Given the description of an element on the screen output the (x, y) to click on. 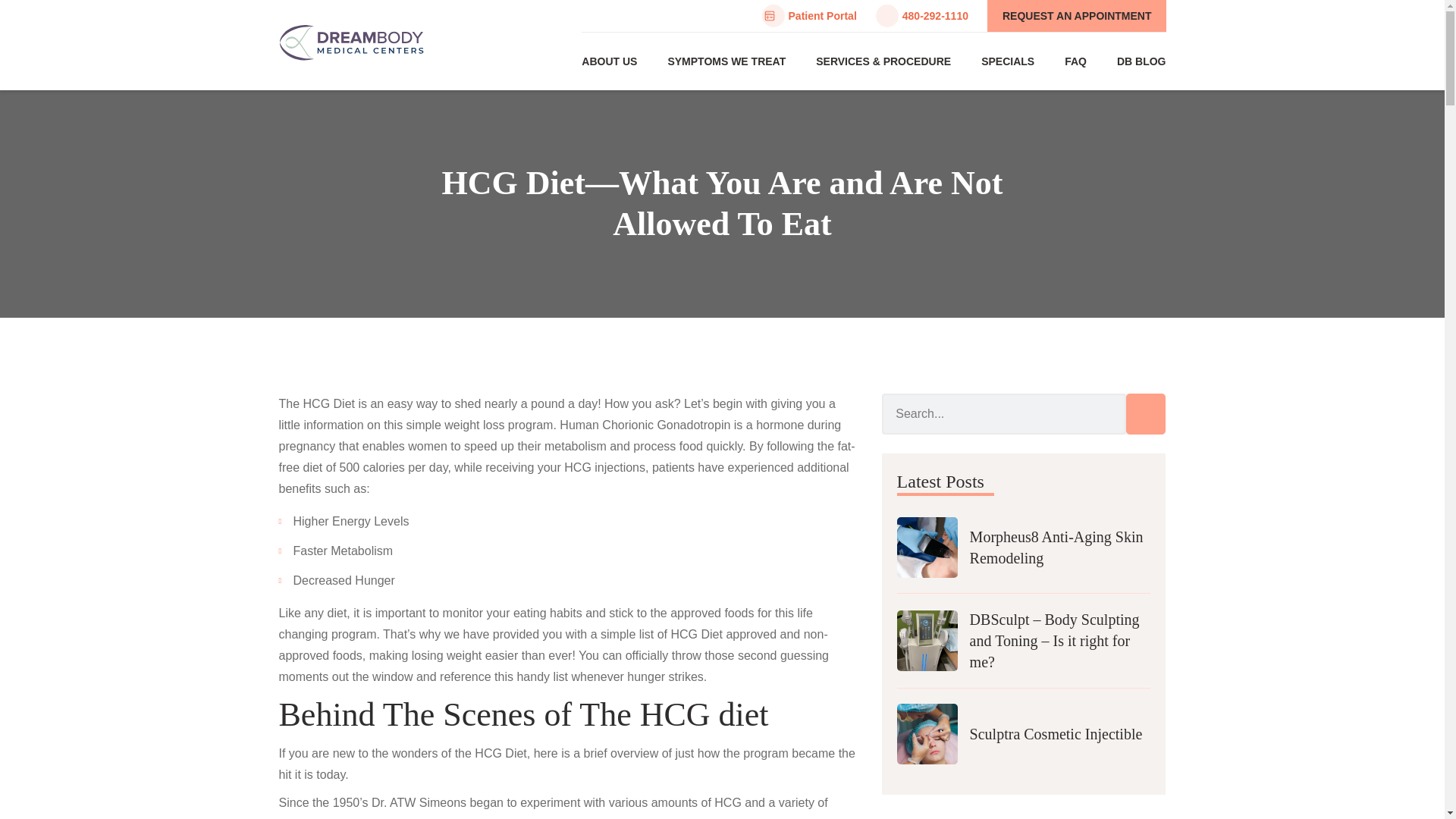
Patient Portal (809, 15)
ABOUT US (608, 61)
480-292-1110 (922, 15)
REQUEST AN APPOINTMENT (1076, 15)
SYMPTOMS WE TREAT (726, 61)
